Given the description of an element on the screen output the (x, y) to click on. 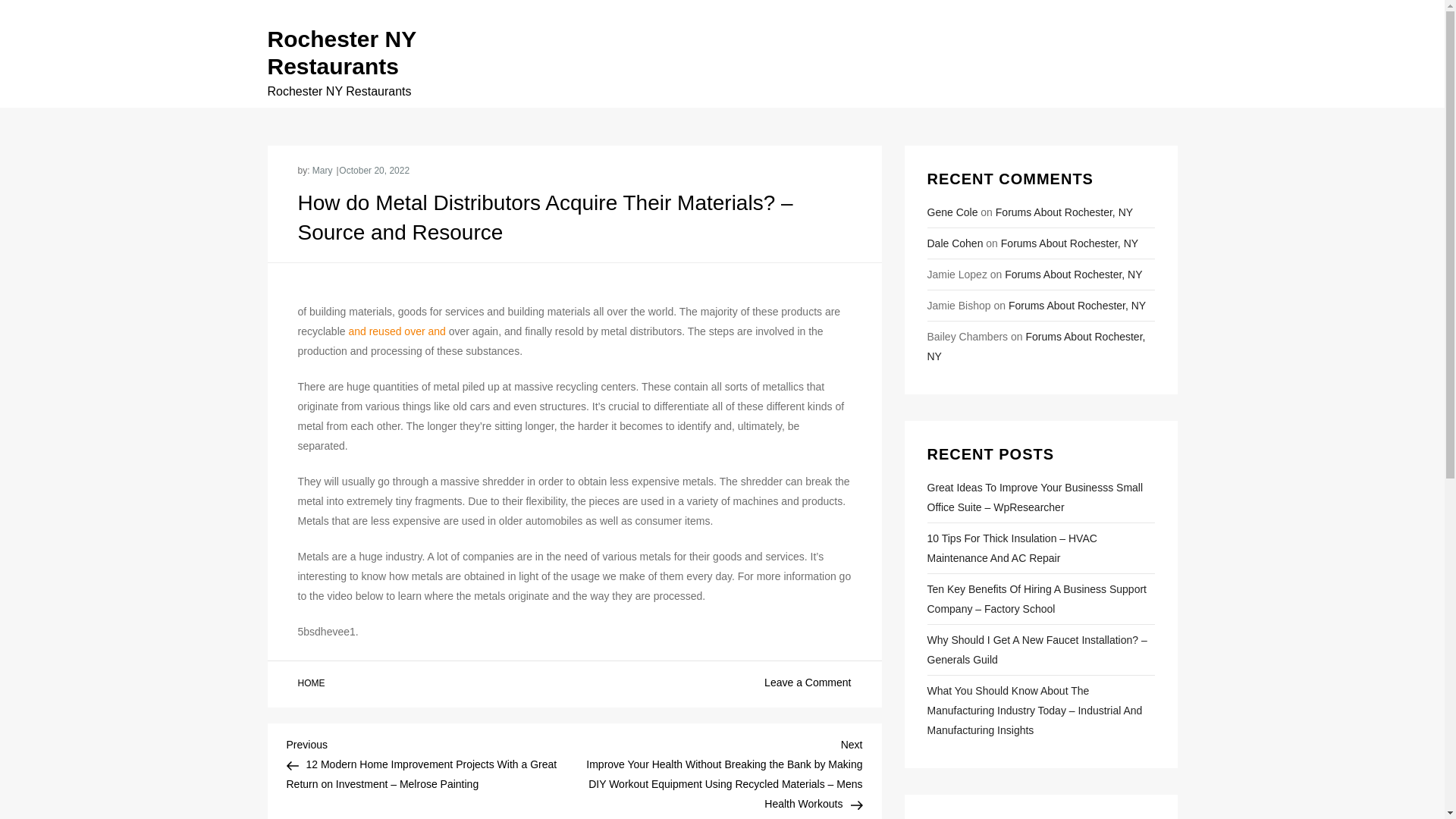
Gene Cole (951, 212)
Forums About Rochester, NY (1063, 212)
Mary (323, 170)
HOME (310, 684)
Rochester NY Restaurants (340, 52)
Forums About Rochester, NY (1035, 346)
and reused over and (396, 331)
Dale Cohen (954, 243)
Forums About Rochester, NY (1072, 274)
October 20, 2022 (374, 170)
